Given the description of an element on the screen output the (x, y) to click on. 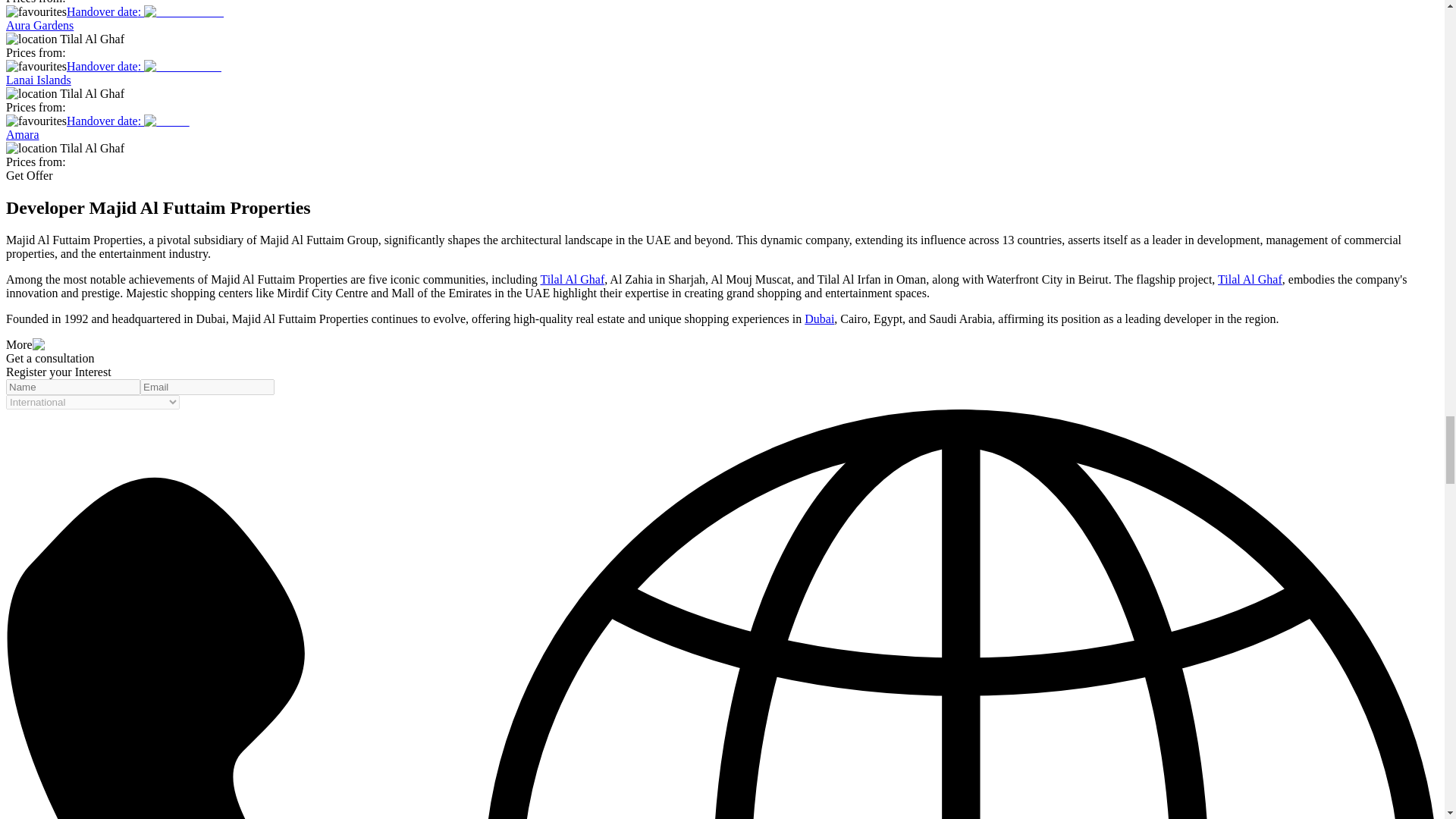
Lanai Islands (182, 66)
Name (72, 386)
Email (207, 386)
Amara (166, 120)
Aura Gardens (184, 11)
